Given the description of an element on the screen output the (x, y) to click on. 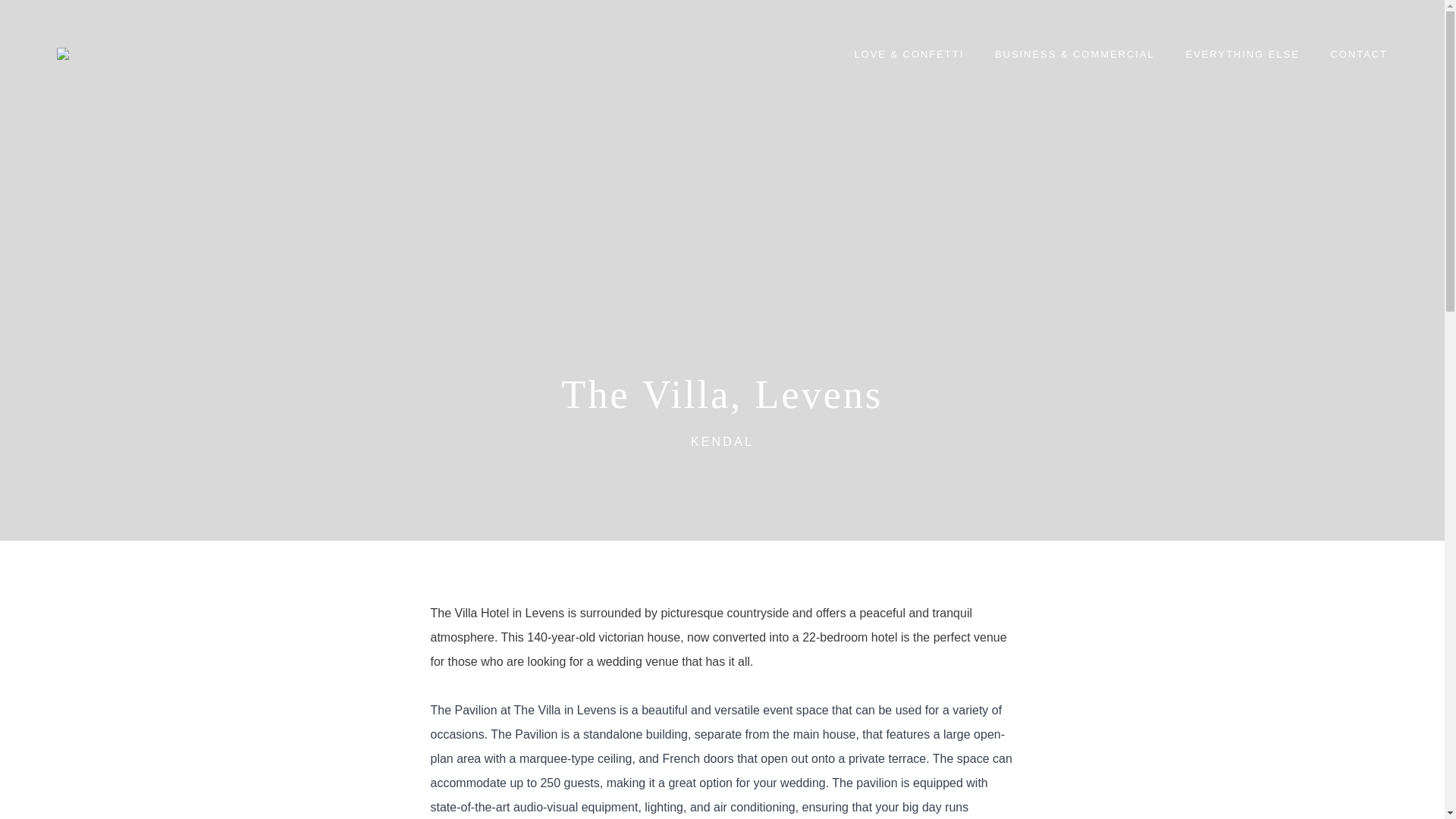
CONTACT (1359, 54)
EVERYTHING ELSE (1242, 54)
